Given the description of an element on the screen output the (x, y) to click on. 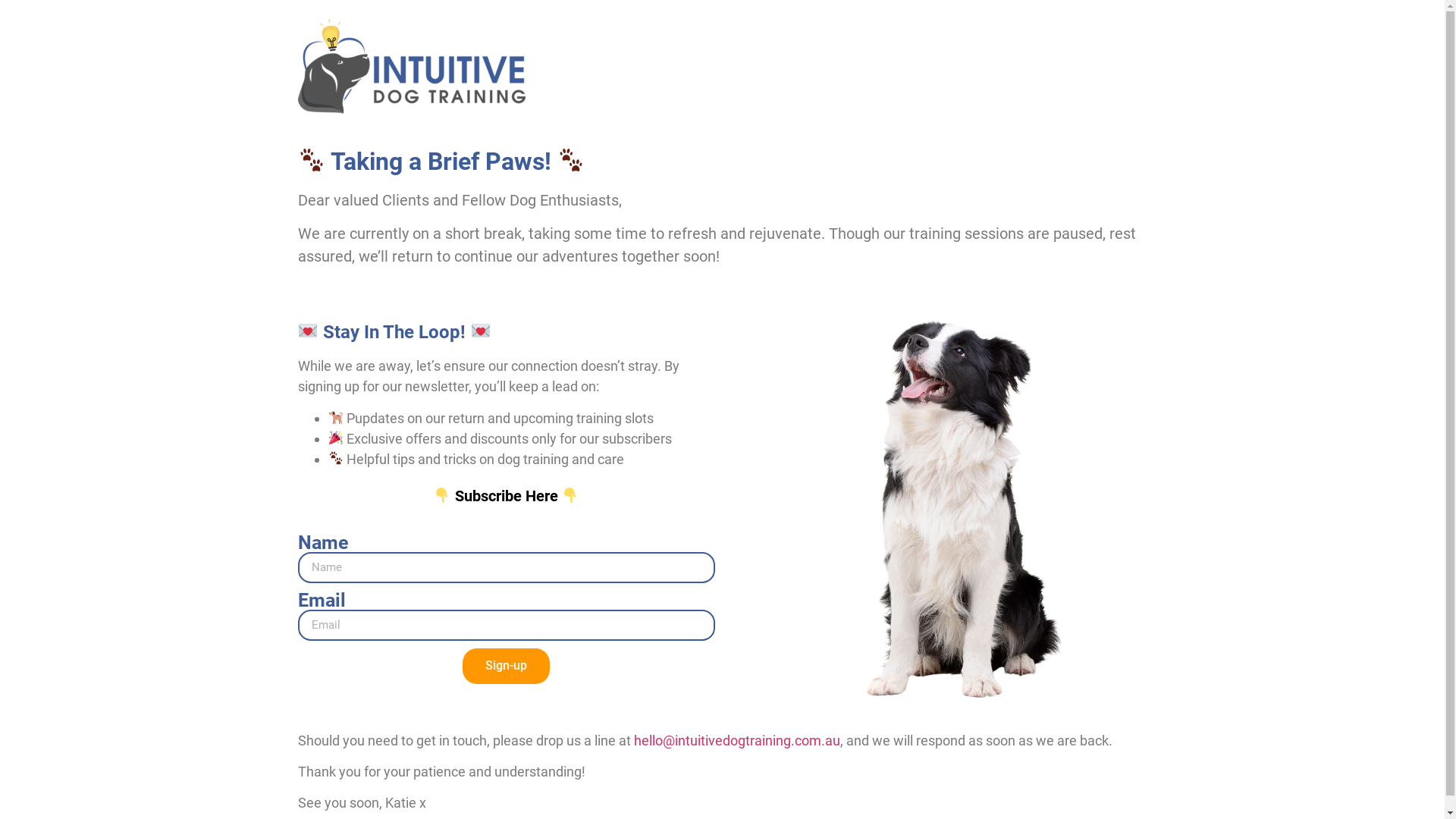
Sign-up Element type: text (505, 666)
hello@intuitivedogtraining.com.au Element type: text (736, 740)
